Given the description of an element on the screen output the (x, y) to click on. 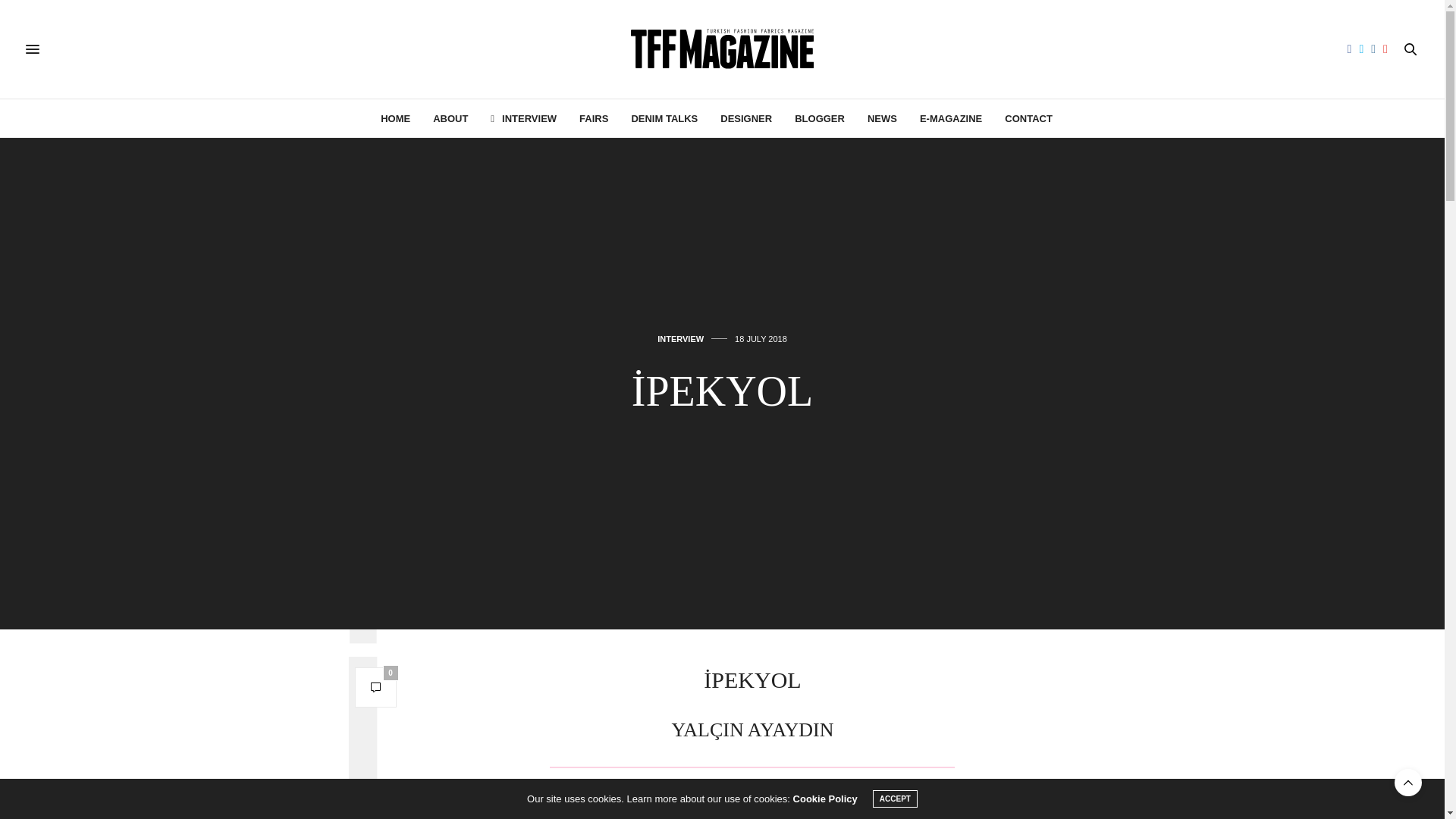
DESIGNER (745, 118)
E-MAGAZINE (950, 118)
FAIRS (593, 118)
CONTACT (1028, 118)
HOME (395, 118)
Scroll To Top (1408, 782)
BLOGGER (819, 118)
0 (375, 687)
DENIM TALKS (663, 118)
INTERVIEW (680, 338)
INTERVIEW (523, 118)
ABOUT (449, 118)
NEWS (881, 118)
